Given the description of an element on the screen output the (x, y) to click on. 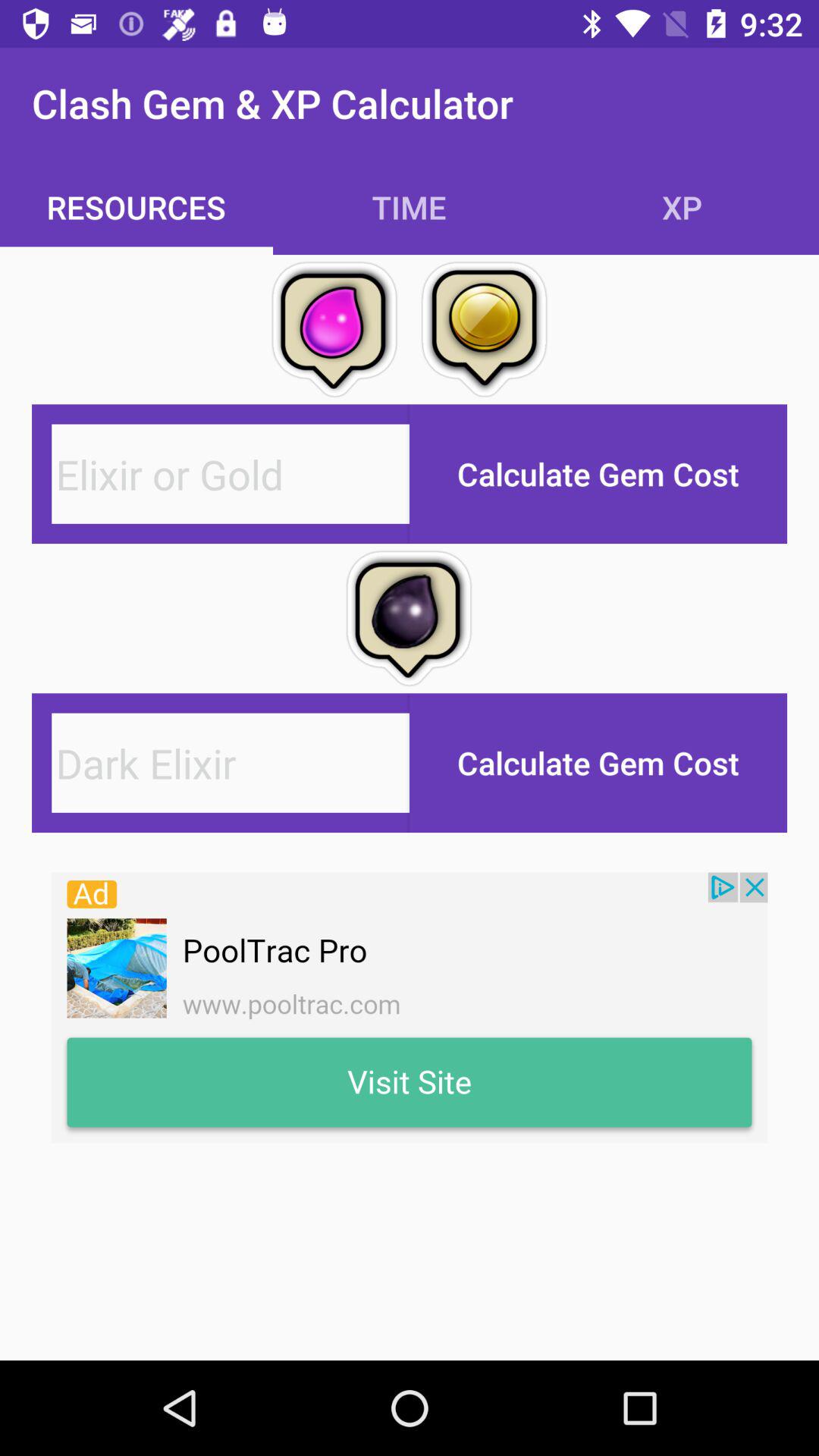
type the message (230, 473)
